Given the description of an element on the screen output the (x, y) to click on. 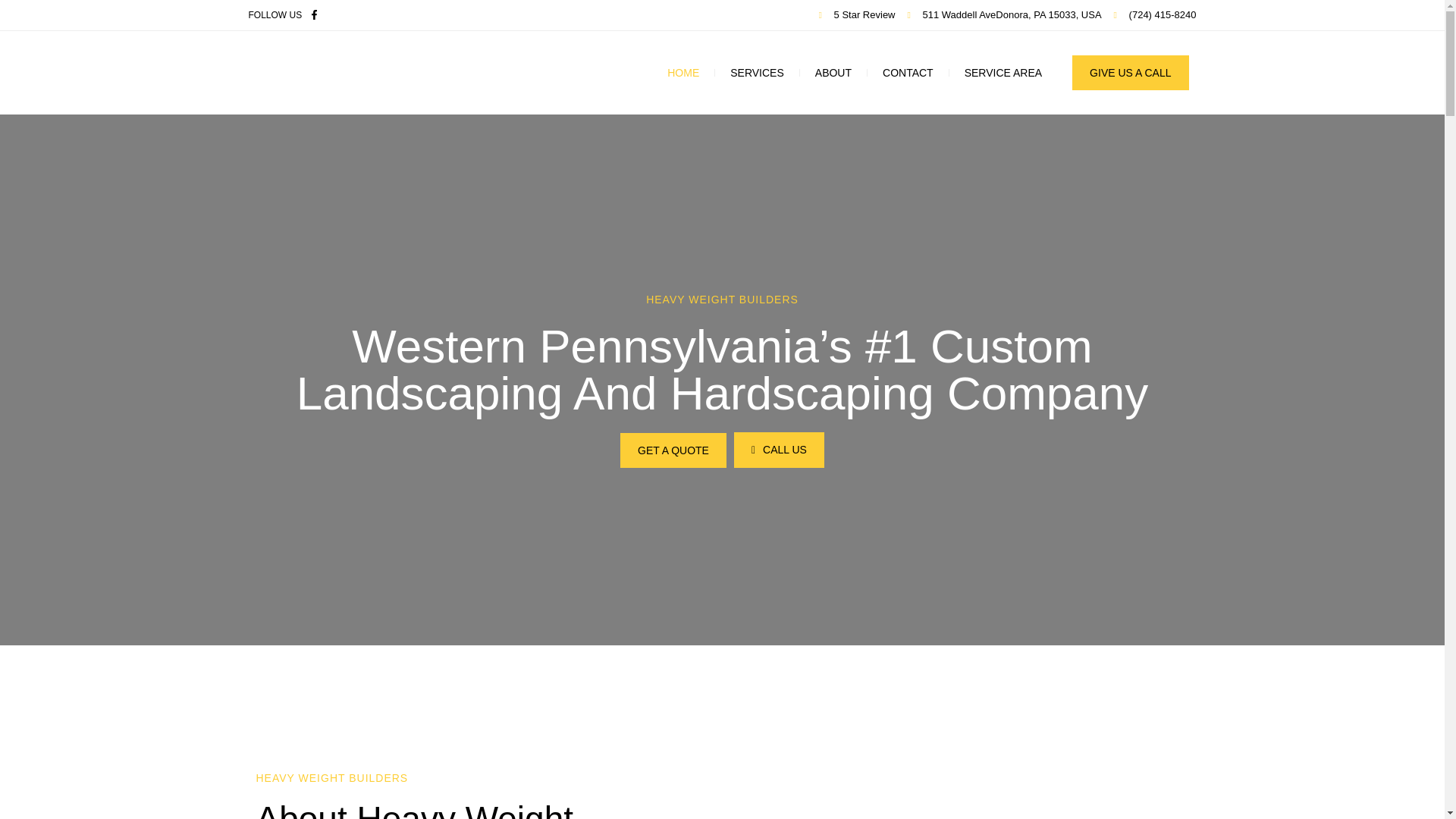
CALL US (778, 449)
GIVE US A CALL (1129, 72)
SERVICE AREA (1003, 72)
GET A QUOTE (673, 450)
CONTACT (908, 72)
HOME (683, 72)
SERVICES (756, 72)
ABOUT (832, 72)
511 Waddell AveDonora, PA 15033, USA (1003, 14)
